Given the description of an element on the screen output the (x, y) to click on. 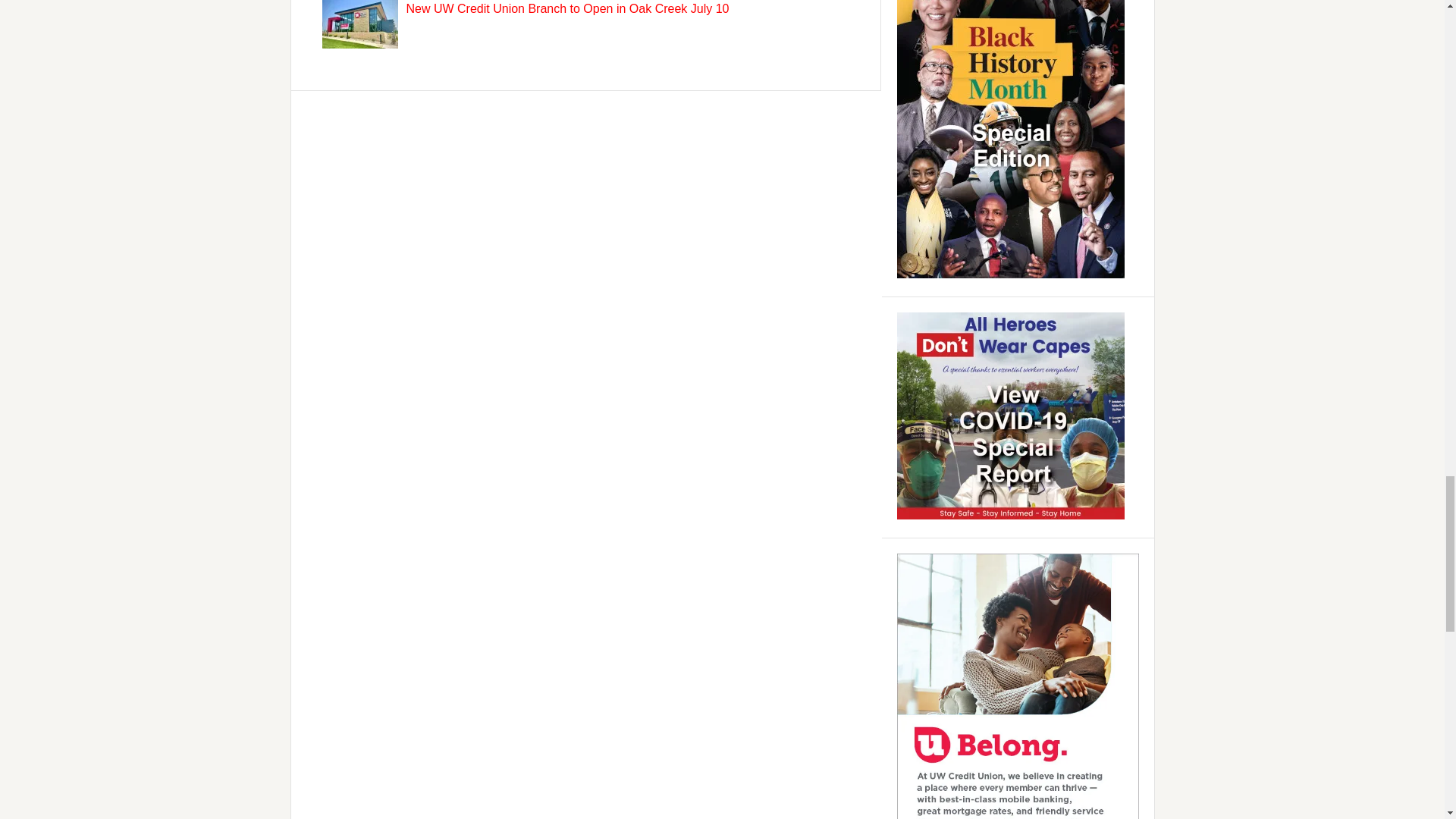
New UW Credit Union Branch to Open in Oak Creek July 10 (567, 8)
